Given the description of an element on the screen output the (x, y) to click on. 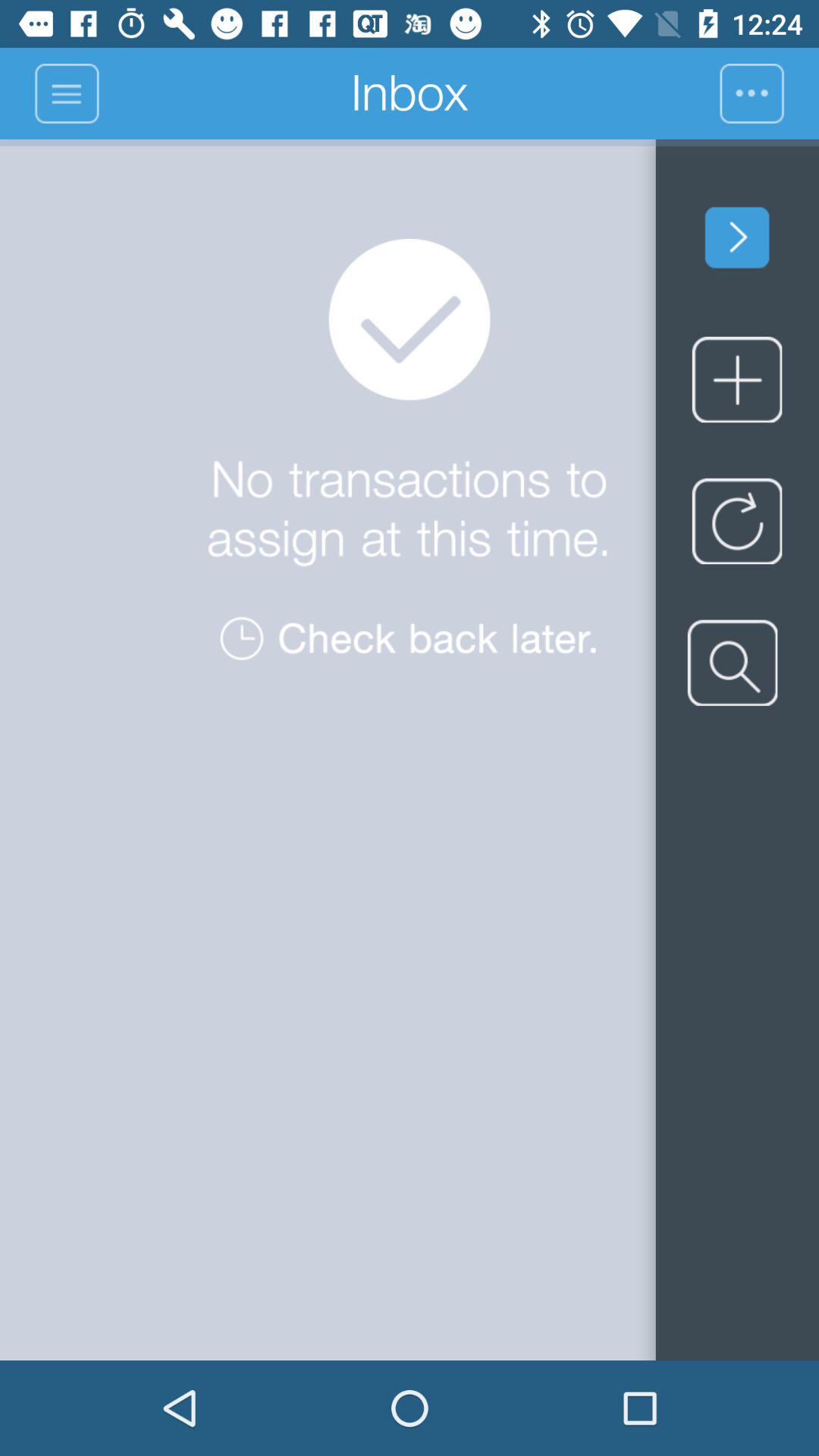
press item to the right of the inbox (769, 93)
